Given the description of an element on the screen output the (x, y) to click on. 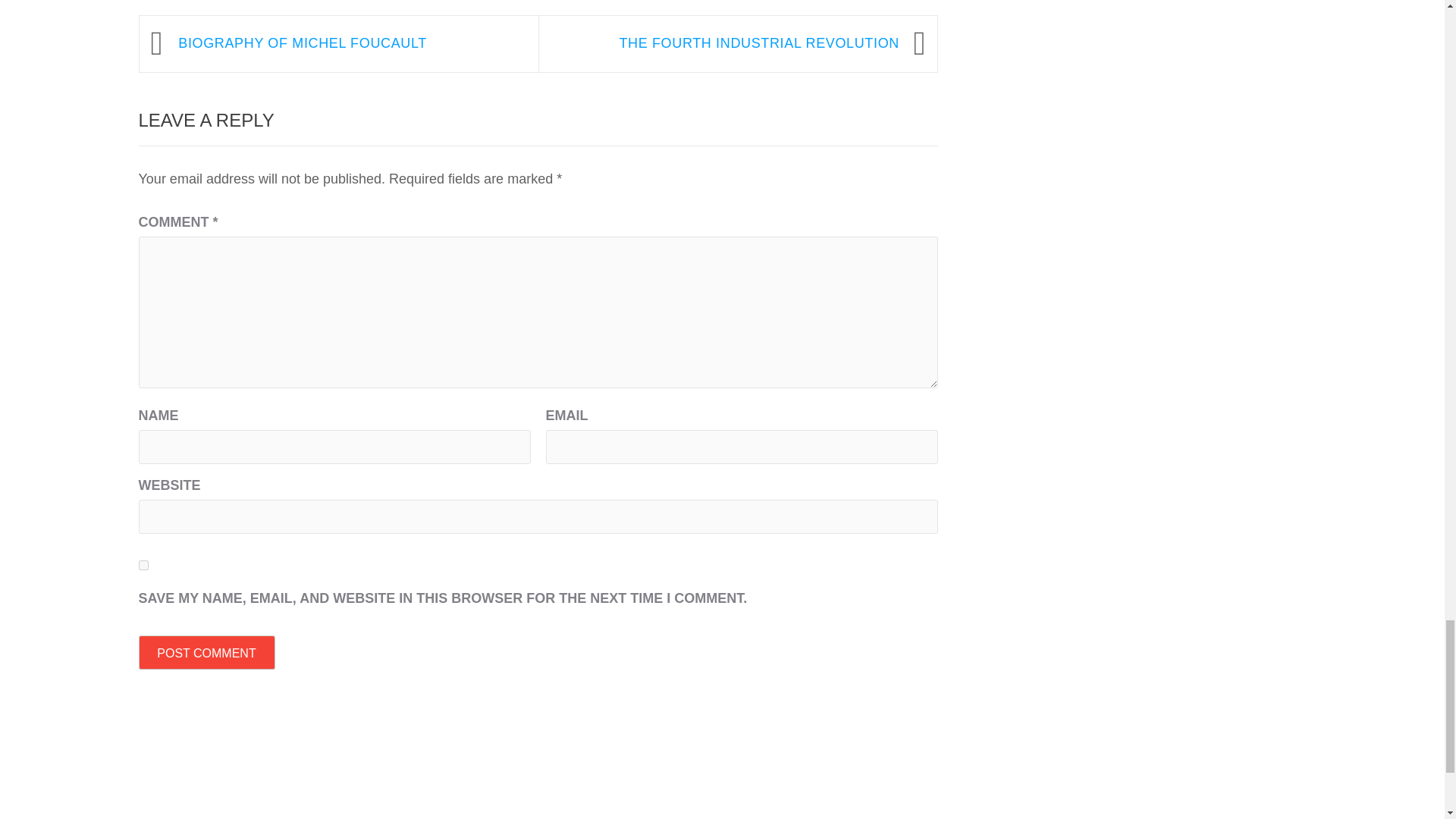
Post Comment (206, 652)
Post Comment (206, 652)
THE FOURTH INDUSTRIAL REVOLUTION (725, 43)
BIOGRAPHY OF MICHEL FOUCAULT (350, 43)
